Given the description of an element on the screen output the (x, y) to click on. 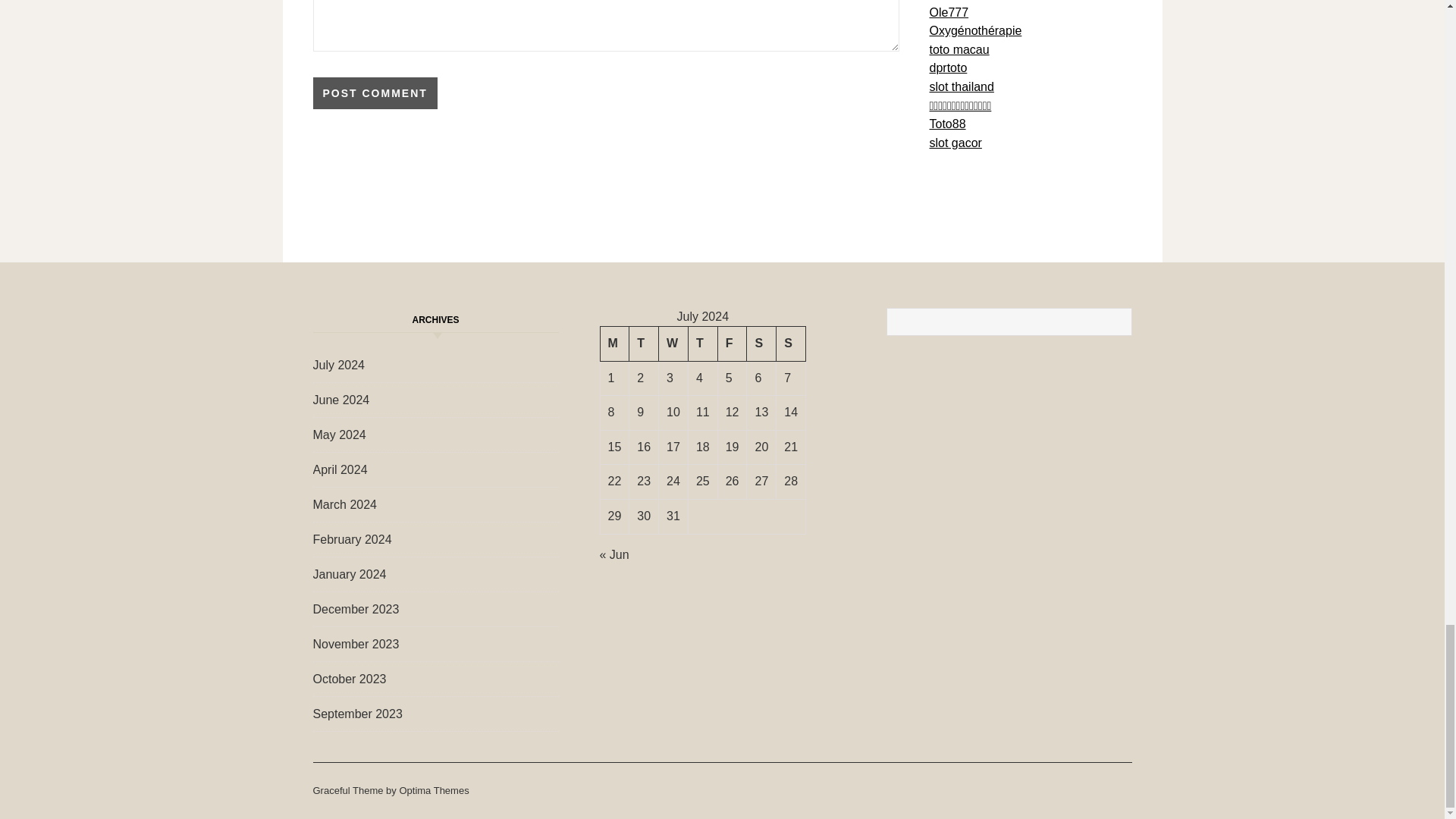
Post Comment (374, 92)
Post Comment (374, 92)
